Given the description of an element on the screen output the (x, y) to click on. 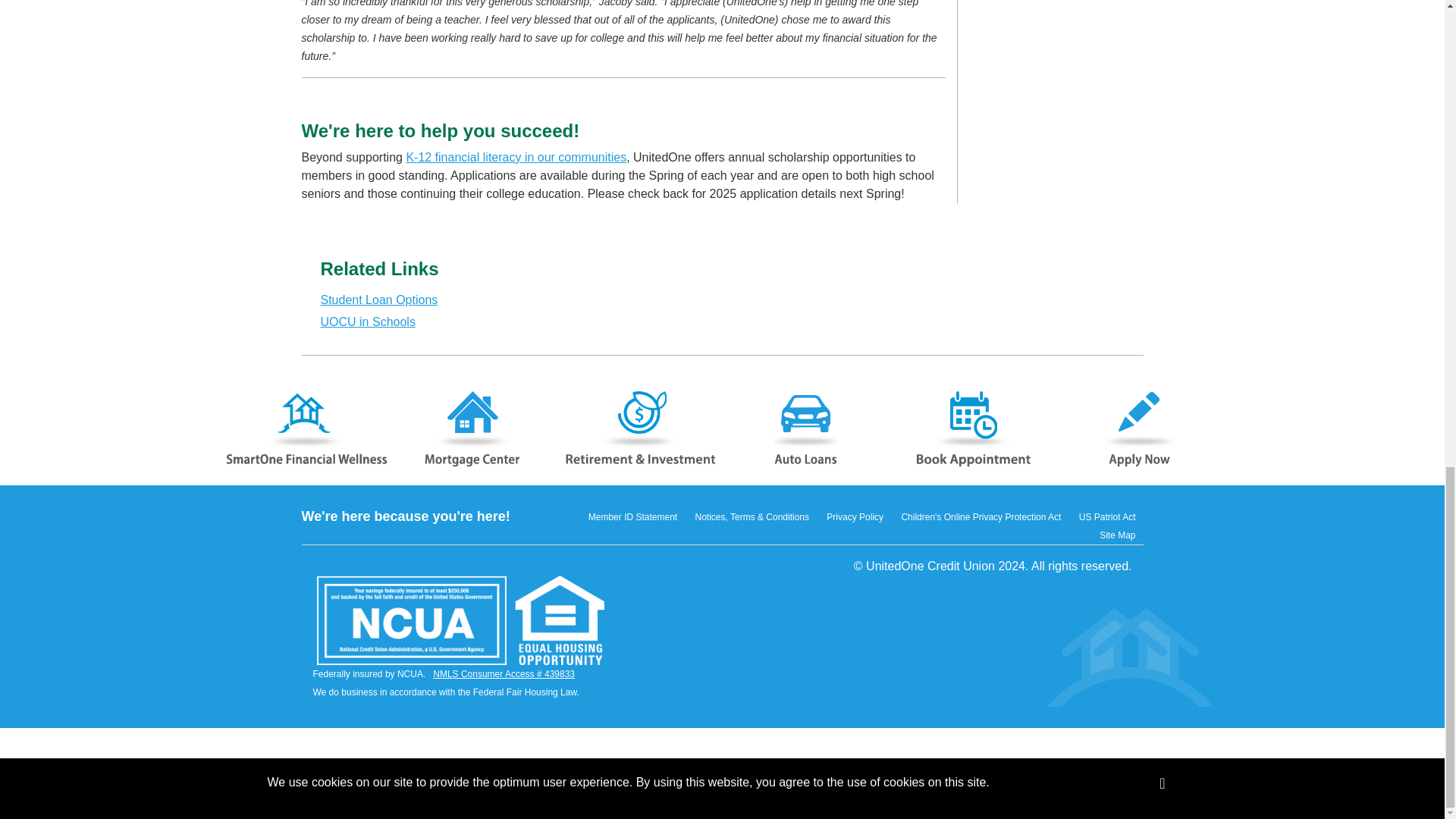
Equal Housing Opportunity (559, 620)
National Credit Union Administration (411, 620)
